Given the description of an element on the screen output the (x, y) to click on. 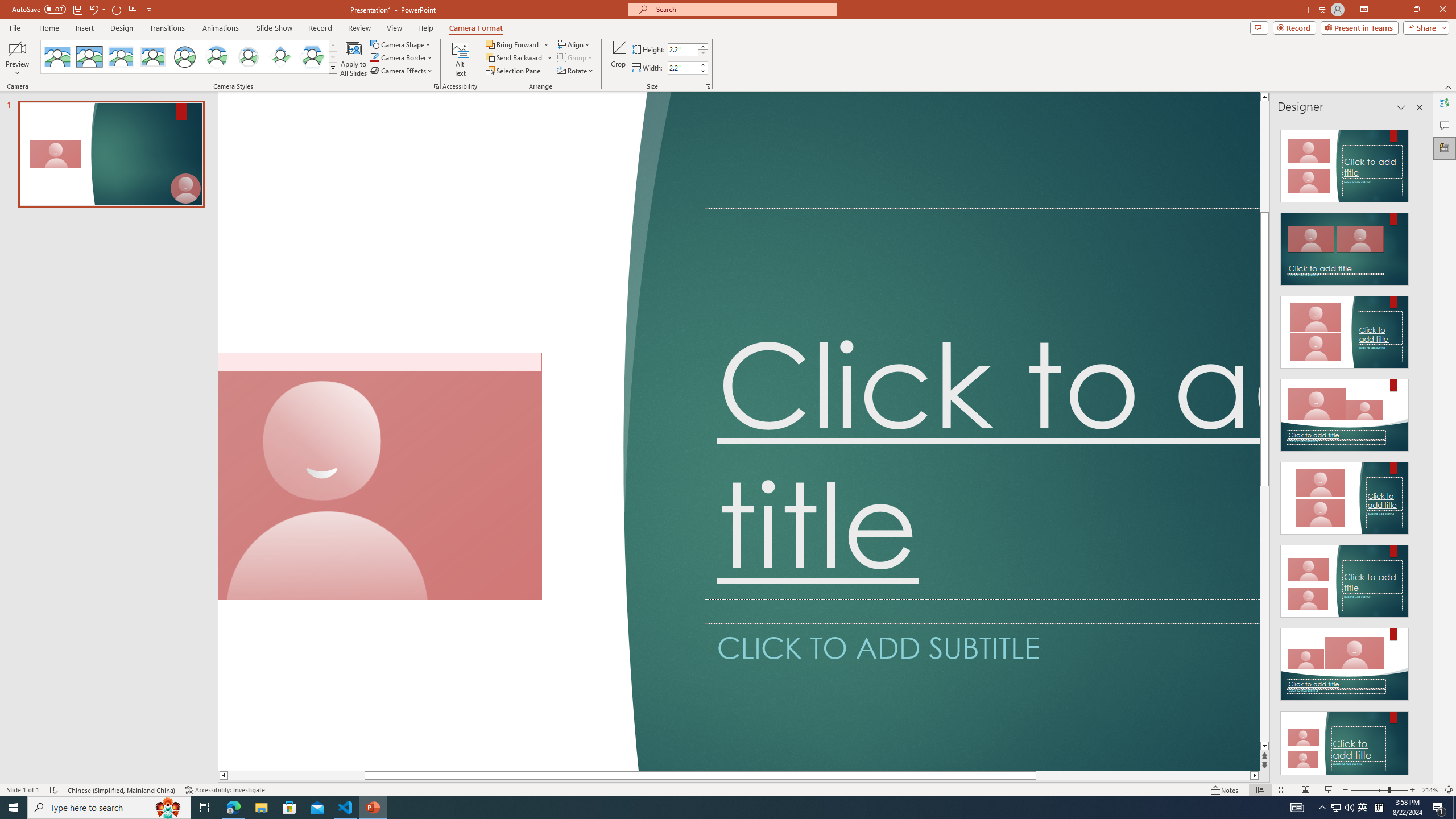
Simple Frame Circle (184, 56)
Center Shadow Diamond (280, 56)
Simple Frame Rectangle (88, 56)
Zoom 214% (1430, 790)
Camera Format (475, 28)
Send Backward (514, 56)
Soft Edge Circle (248, 56)
